Given the description of an element on the screen output the (x, y) to click on. 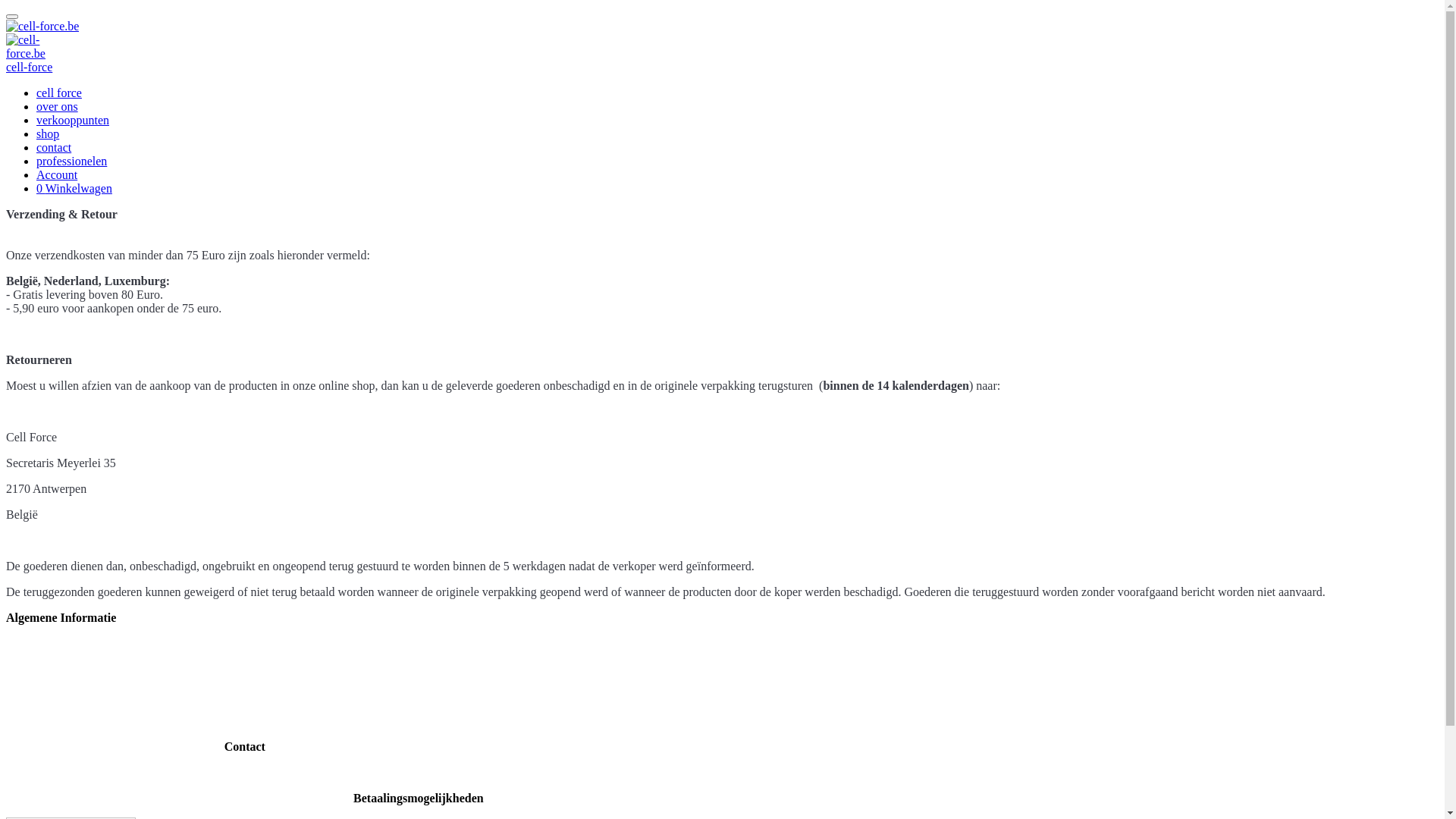
Retour & verzending Element type: text (57, 668)
cell force Element type: text (58, 92)
cell-force.be Element type: hover (42, 26)
professionelen Element type: text (71, 160)
contact Element type: text (53, 147)
shop Element type: text (47, 133)
0 Winkelwagen Element type: text (74, 188)
Privacy Element type: text (24, 694)
Algemene voorwaarden Element type: text (64, 643)
cell-force Element type: text (29, 66)
cell-force.be Element type: hover (31, 46)
say hello :) Element type: text (244, 771)
Disclaimer Element type: text (32, 720)
verkooppunten Element type: text (72, 119)
over ons Element type: text (57, 106)
Account Element type: text (56, 174)
